Given the description of an element on the screen output the (x, y) to click on. 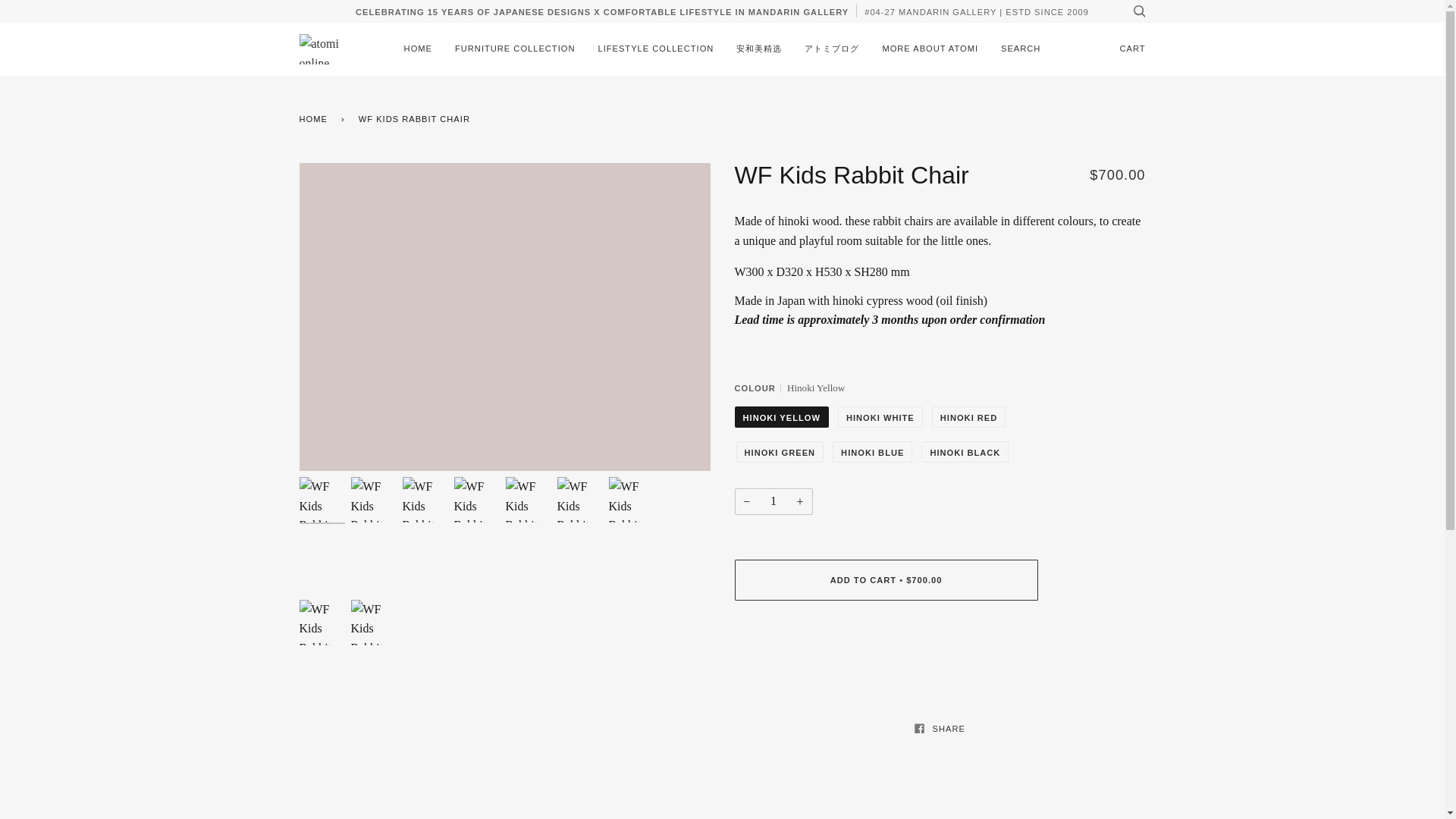
1 (772, 501)
FURNITURE COLLECTION (515, 49)
Back to the frontpage (314, 119)
LIFESTYLE COLLECTION (655, 49)
HOME (418, 49)
